Given the description of an element on the screen output the (x, y) to click on. 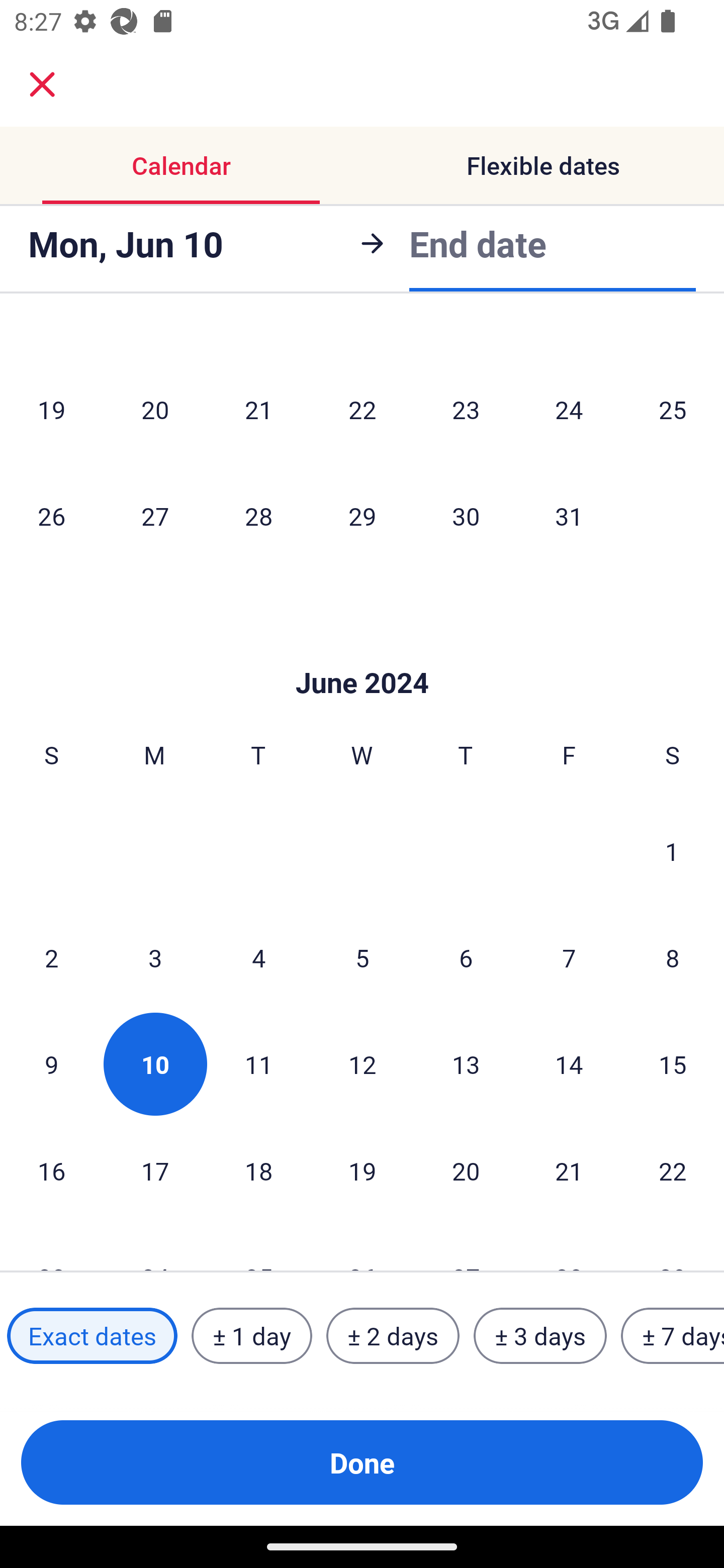
close. (42, 84)
Flexible dates (542, 164)
End date (477, 240)
19 Sunday, May 19, 2024 (51, 408)
20 Monday, May 20, 2024 (155, 408)
21 Tuesday, May 21, 2024 (258, 408)
22 Wednesday, May 22, 2024 (362, 408)
23 Thursday, May 23, 2024 (465, 408)
24 Friday, May 24, 2024 (569, 408)
25 Saturday, May 25, 2024 (672, 408)
26 Sunday, May 26, 2024 (51, 515)
27 Monday, May 27, 2024 (155, 515)
28 Tuesday, May 28, 2024 (258, 515)
29 Wednesday, May 29, 2024 (362, 515)
30 Thursday, May 30, 2024 (465, 515)
31 Friday, May 31, 2024 (569, 515)
Skip to Done (362, 651)
1 Saturday, June 1, 2024 (672, 851)
2 Sunday, June 2, 2024 (51, 957)
3 Monday, June 3, 2024 (155, 957)
4 Tuesday, June 4, 2024 (258, 957)
5 Wednesday, June 5, 2024 (362, 957)
6 Thursday, June 6, 2024 (465, 957)
7 Friday, June 7, 2024 (569, 957)
8 Saturday, June 8, 2024 (672, 957)
9 Sunday, June 9, 2024 (51, 1064)
11 Tuesday, June 11, 2024 (258, 1064)
12 Wednesday, June 12, 2024 (362, 1064)
13 Thursday, June 13, 2024 (465, 1064)
14 Friday, June 14, 2024 (569, 1064)
15 Saturday, June 15, 2024 (672, 1064)
16 Sunday, June 16, 2024 (51, 1170)
17 Monday, June 17, 2024 (155, 1170)
18 Tuesday, June 18, 2024 (258, 1170)
19 Wednesday, June 19, 2024 (362, 1170)
20 Thursday, June 20, 2024 (465, 1170)
21 Friday, June 21, 2024 (569, 1170)
22 Saturday, June 22, 2024 (672, 1170)
Exact dates (92, 1335)
± 1 day (251, 1335)
± 2 days (392, 1335)
± 3 days (539, 1335)
± 7 days (672, 1335)
Done (361, 1462)
